Given the description of an element on the screen output the (x, y) to click on. 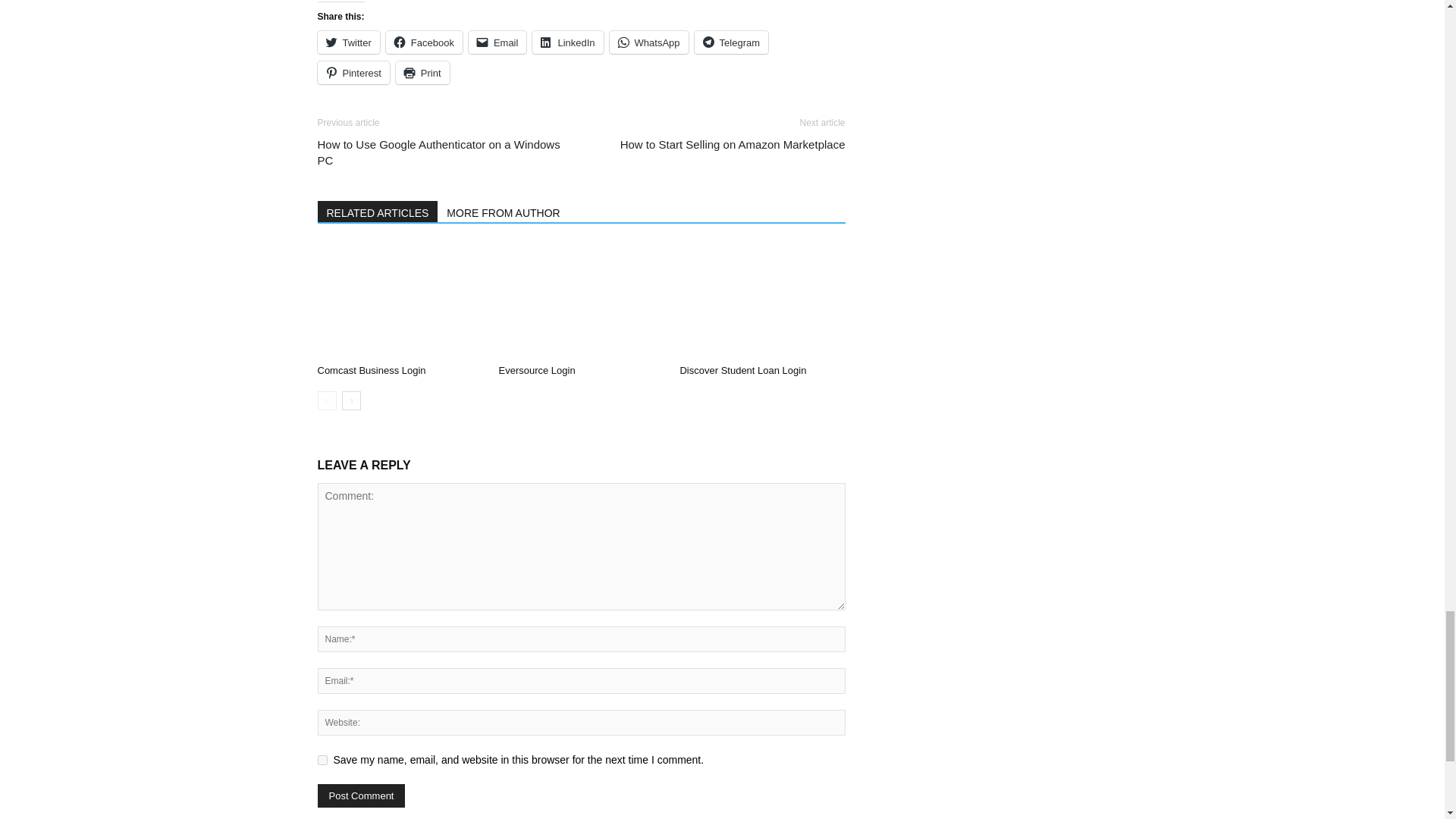
Comcast Business Login (371, 369)
Click to share on Pinterest (352, 72)
Click to share on Twitter (347, 42)
Click to share on LinkedIn (567, 42)
Facebook (424, 42)
Comcast Business Login (399, 300)
Click to share on Telegram (731, 42)
Click to email a link to a friend (497, 42)
Click to share on WhatsApp (649, 42)
Post Comment (360, 795)
